Given the description of an element on the screen output the (x, y) to click on. 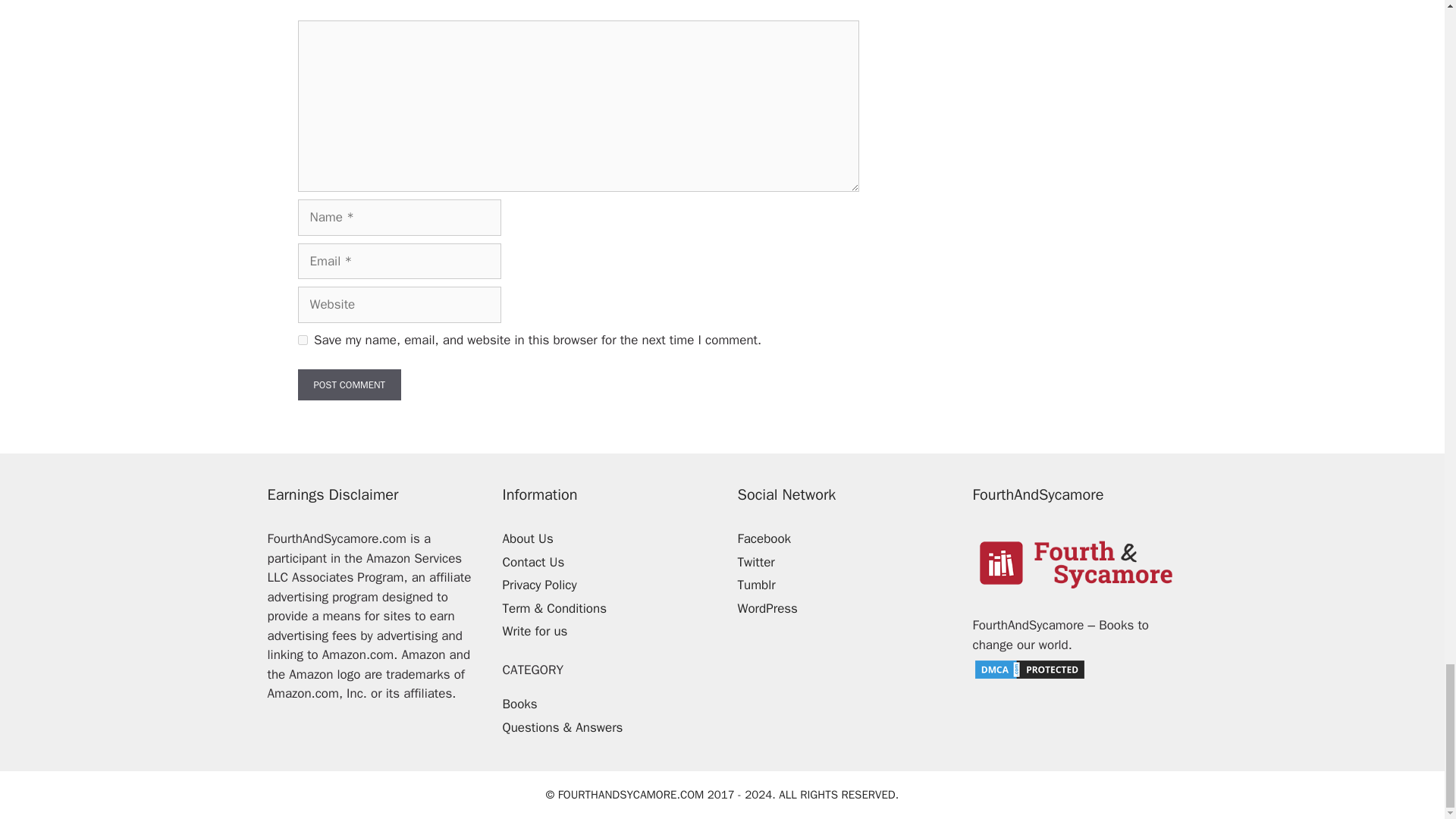
Post Comment (349, 385)
DMCA.com Protection Status (1029, 676)
yes (302, 339)
Post Comment (349, 385)
